Given the description of an element on the screen output the (x, y) to click on. 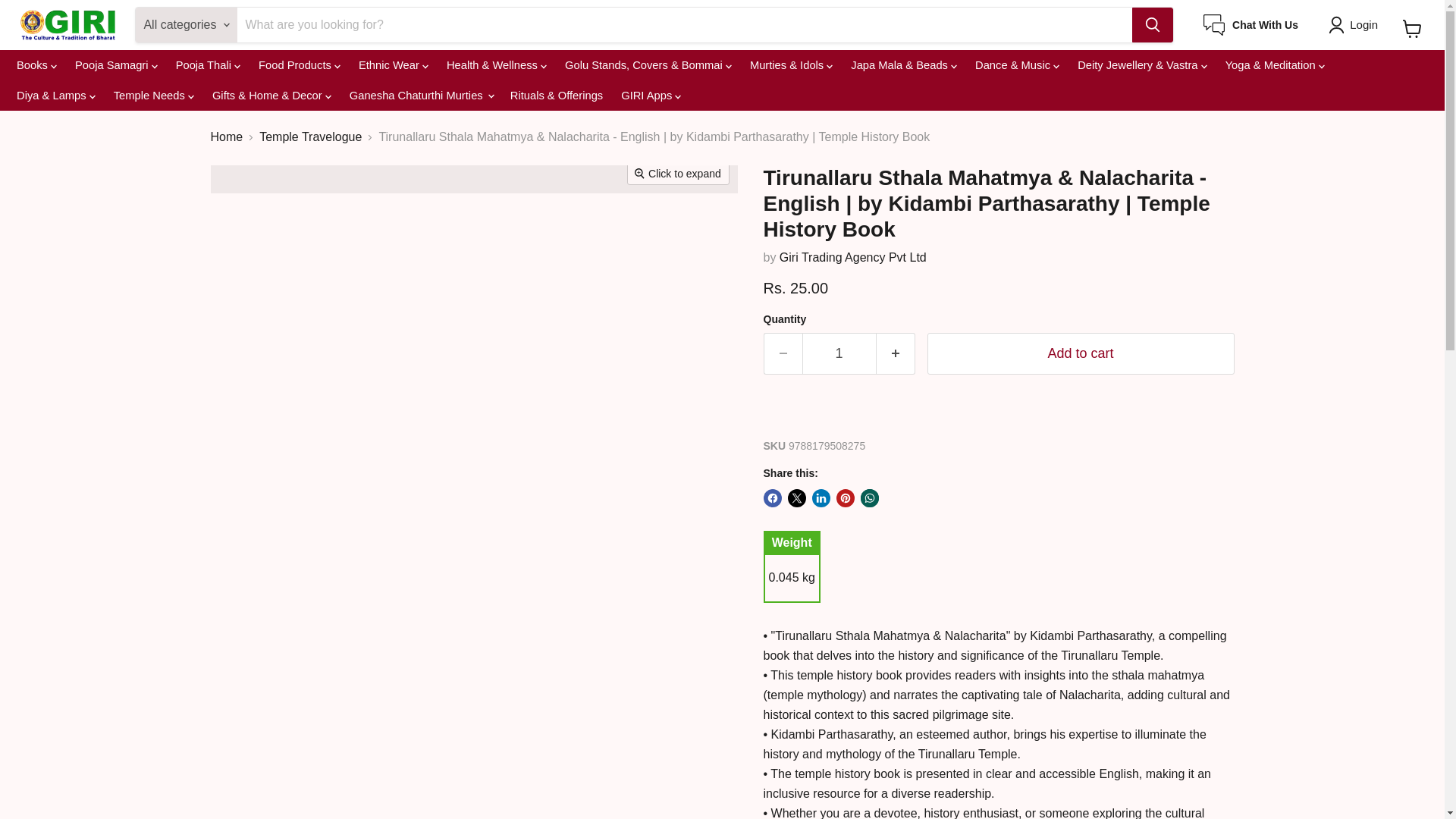
1 (839, 353)
View cart (1411, 28)
Chat With Us (1251, 25)
Login (1355, 24)
Giri Trading Agency Pvt Ltd (852, 256)
